Given the description of an element on the screen output the (x, y) to click on. 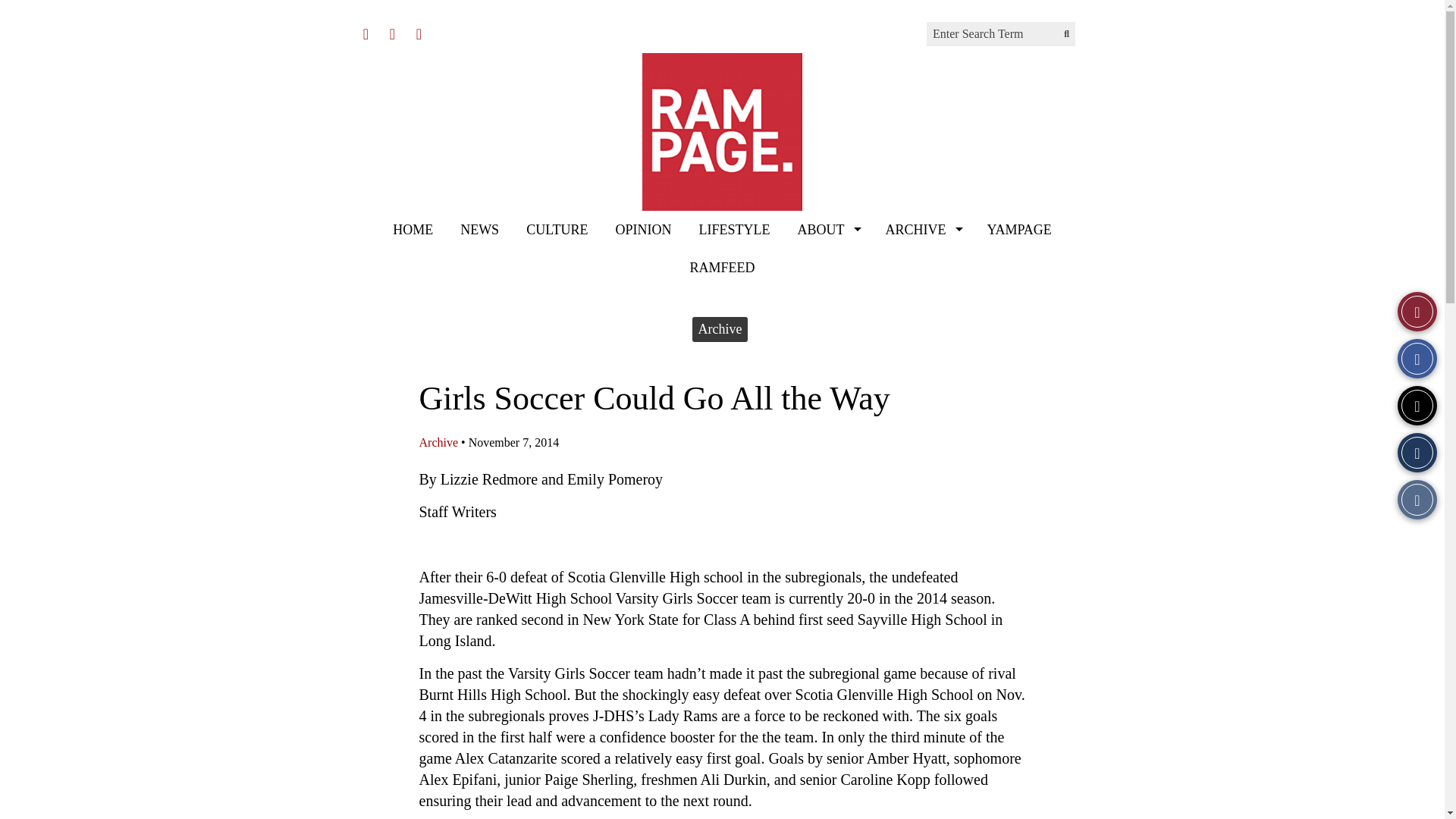
LIFESTYLE (733, 229)
RAMFEED (721, 267)
NEWS (479, 229)
HOME (412, 229)
ARCHIVE (921, 229)
OPINION (642, 229)
YAMPAGE (1018, 229)
CULTURE (556, 229)
ABOUT (826, 229)
